Given the description of an element on the screen output the (x, y) to click on. 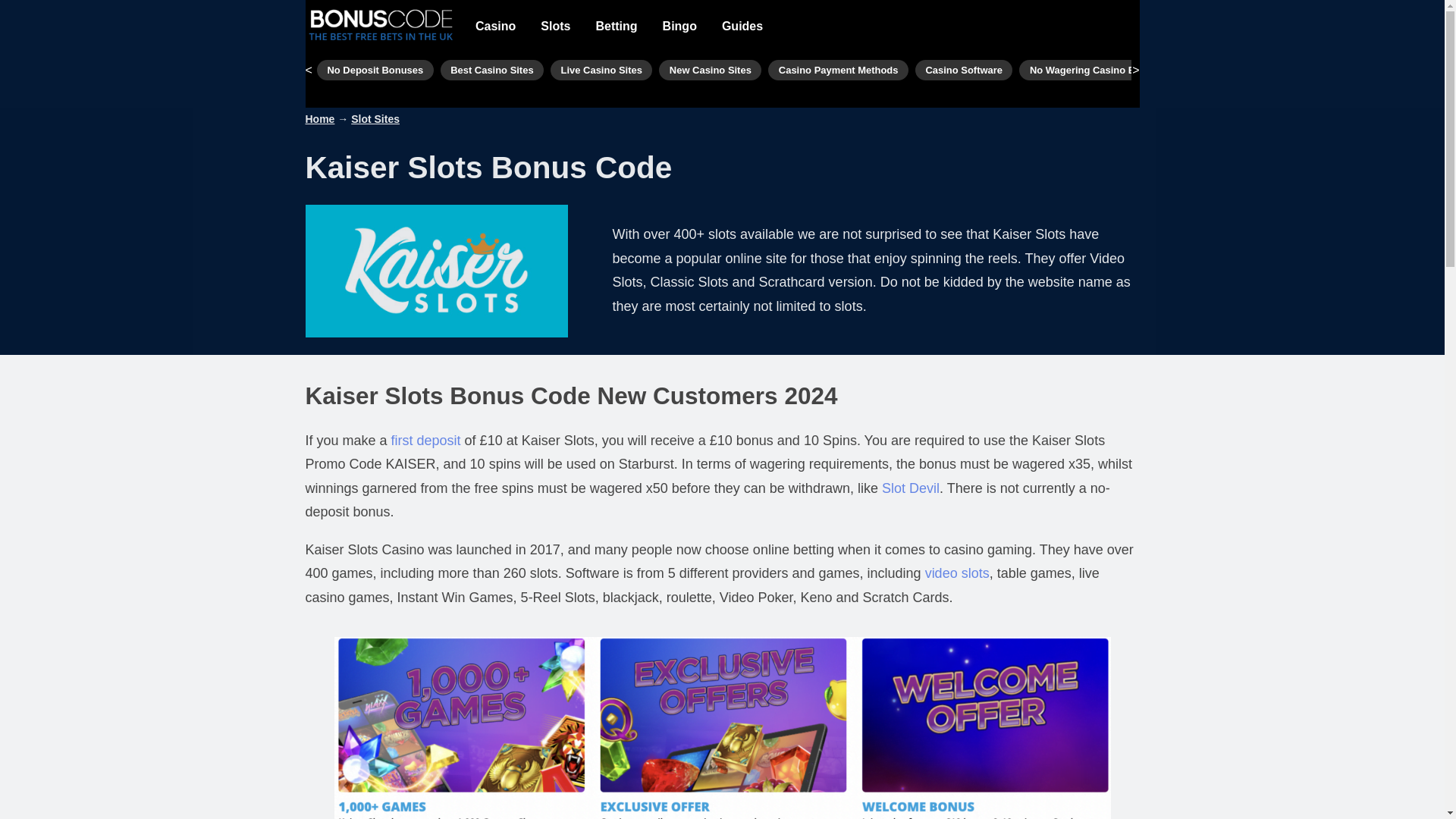
Free Spins (1348, 70)
New Casino Sites (710, 70)
Bingo (679, 26)
No Deposit Bonuses (375, 70)
Best Casino Sites (492, 70)
Slots (555, 26)
No Wagering Casino Bonuses (1099, 70)
Live Casino Sites (601, 70)
Casino Software (964, 70)
Casino Bonus Codes (1246, 70)
Home (319, 119)
Casino Payment Methods (838, 70)
Guides (742, 26)
Casino (494, 26)
Betting (616, 26)
